Given the description of an element on the screen output the (x, y) to click on. 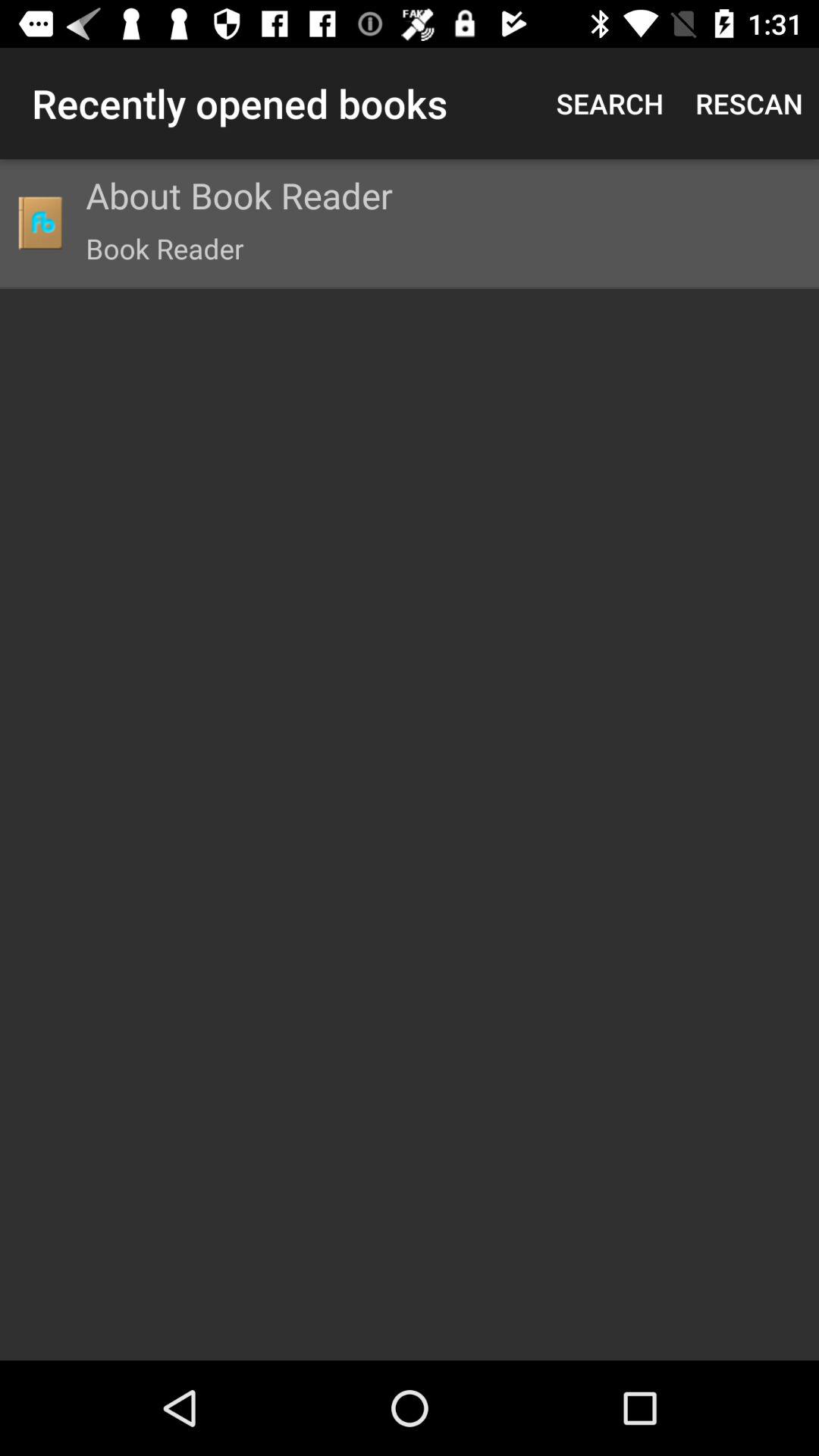
select icon to the left of the about book reader (39, 222)
